Given the description of an element on the screen output the (x, y) to click on. 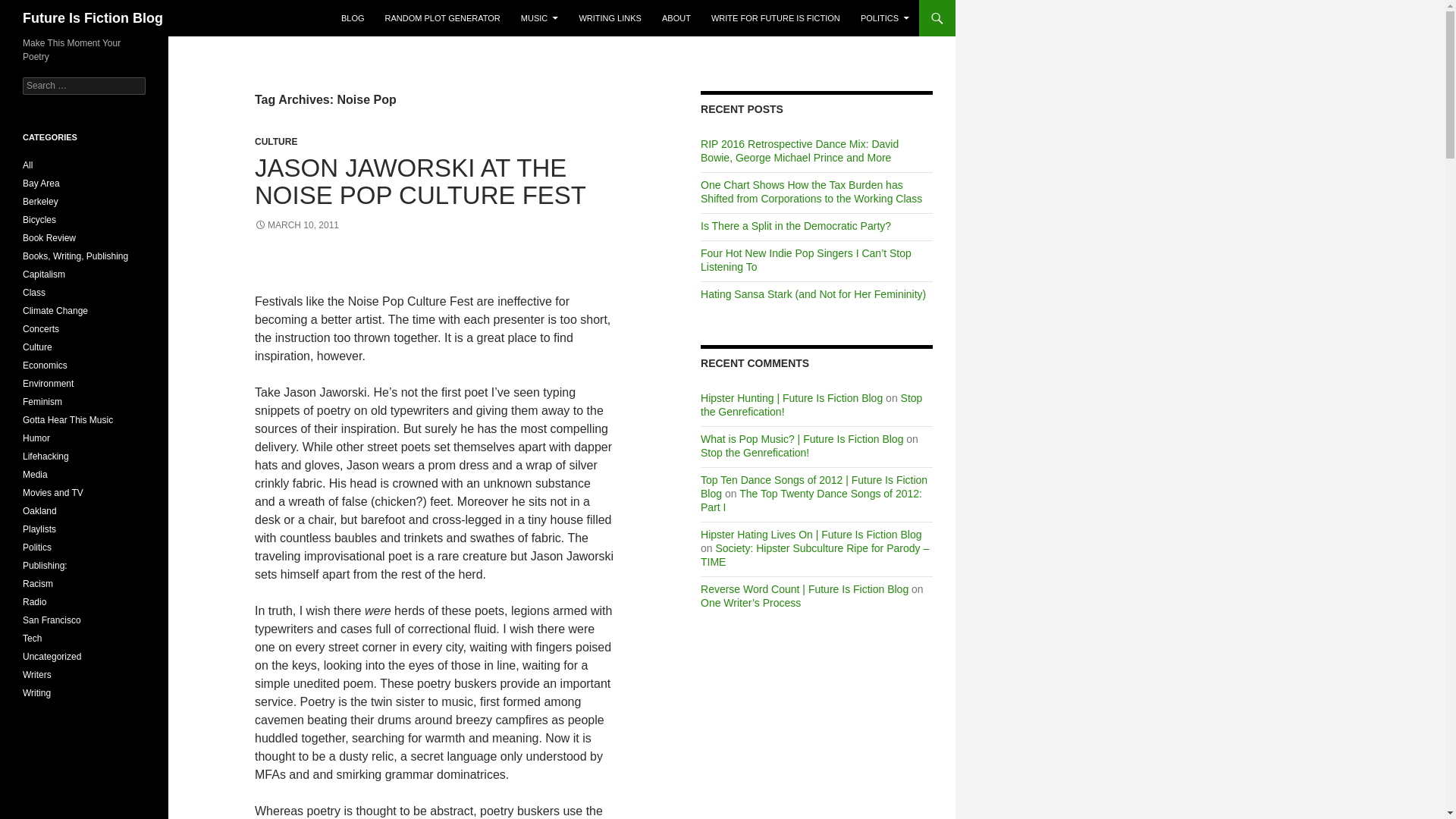
WRITING LINKS (609, 18)
MARCH 10, 2011 (296, 225)
BLOG (352, 18)
ABOUT (676, 18)
MUSIC (539, 18)
RANDOM PLOT GENERATOR (442, 18)
CULTURE (275, 141)
WRITE FOR FUTURE IS FICTION (774, 18)
POLITICS (884, 18)
Future Is Fiction Blog (93, 18)
